Given the description of an element on the screen output the (x, y) to click on. 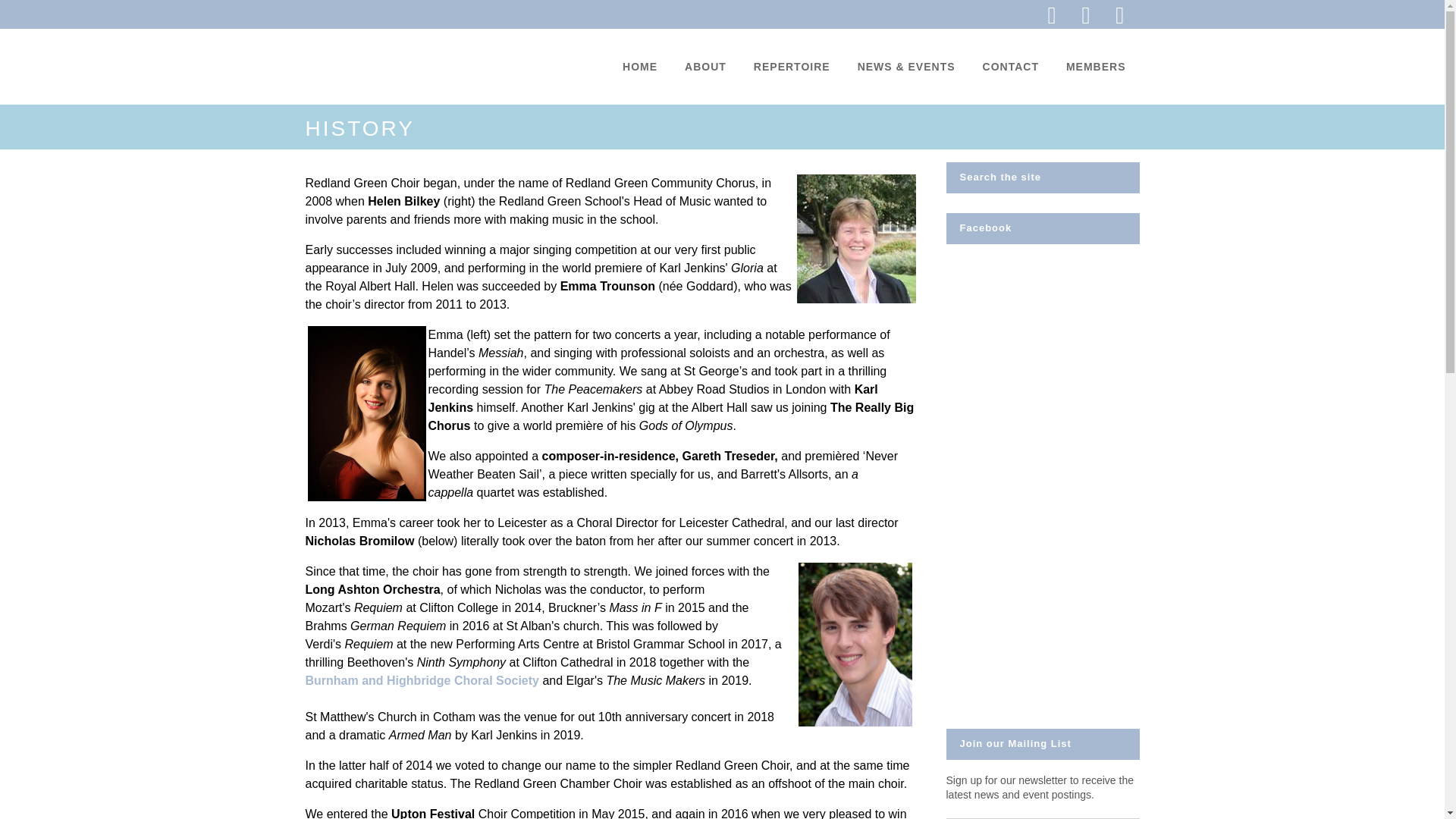
CONTACT (1010, 66)
REPERTOIRE (791, 66)
Helen Bilkey (855, 238)
ABOUT (705, 66)
MEMBERS (1096, 66)
